Given the description of an element on the screen output the (x, y) to click on. 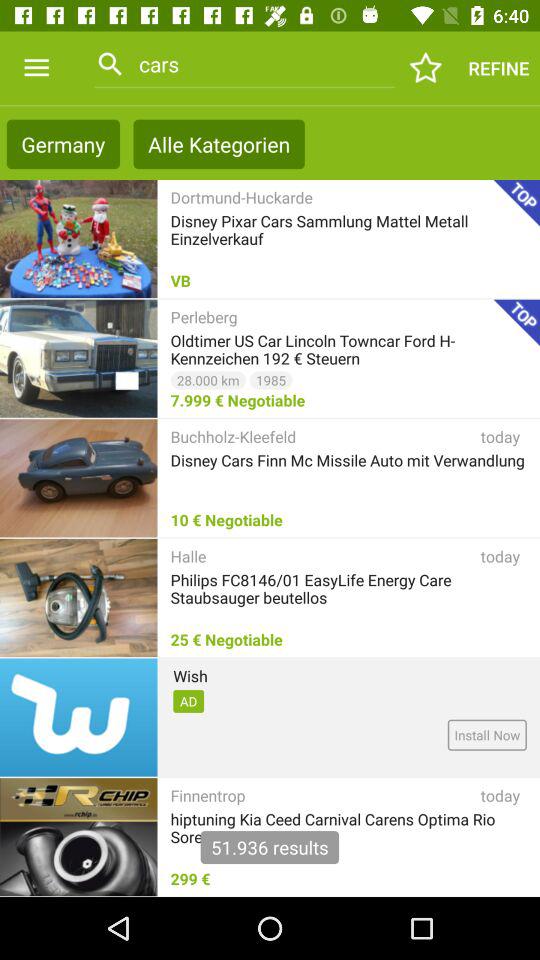
click the wish item (190, 675)
